Given the description of an element on the screen output the (x, y) to click on. 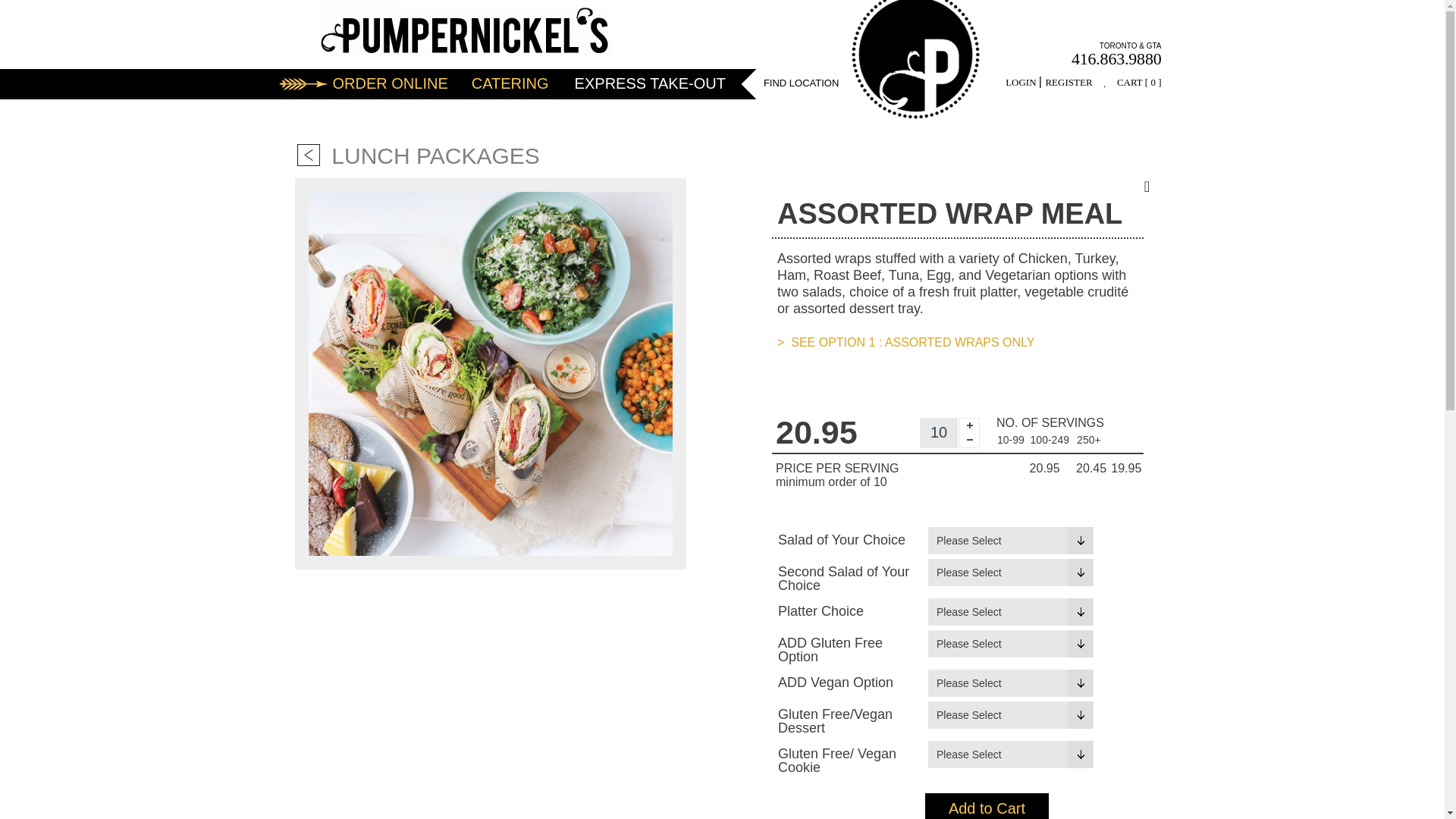
LOGIN (1022, 81)
10 (939, 431)
EXPRESS TAKE-OUT (644, 83)
REGISTER (1068, 81)
CATERING (504, 83)
FIND LOCATION (800, 82)
